Given the description of an element on the screen output the (x, y) to click on. 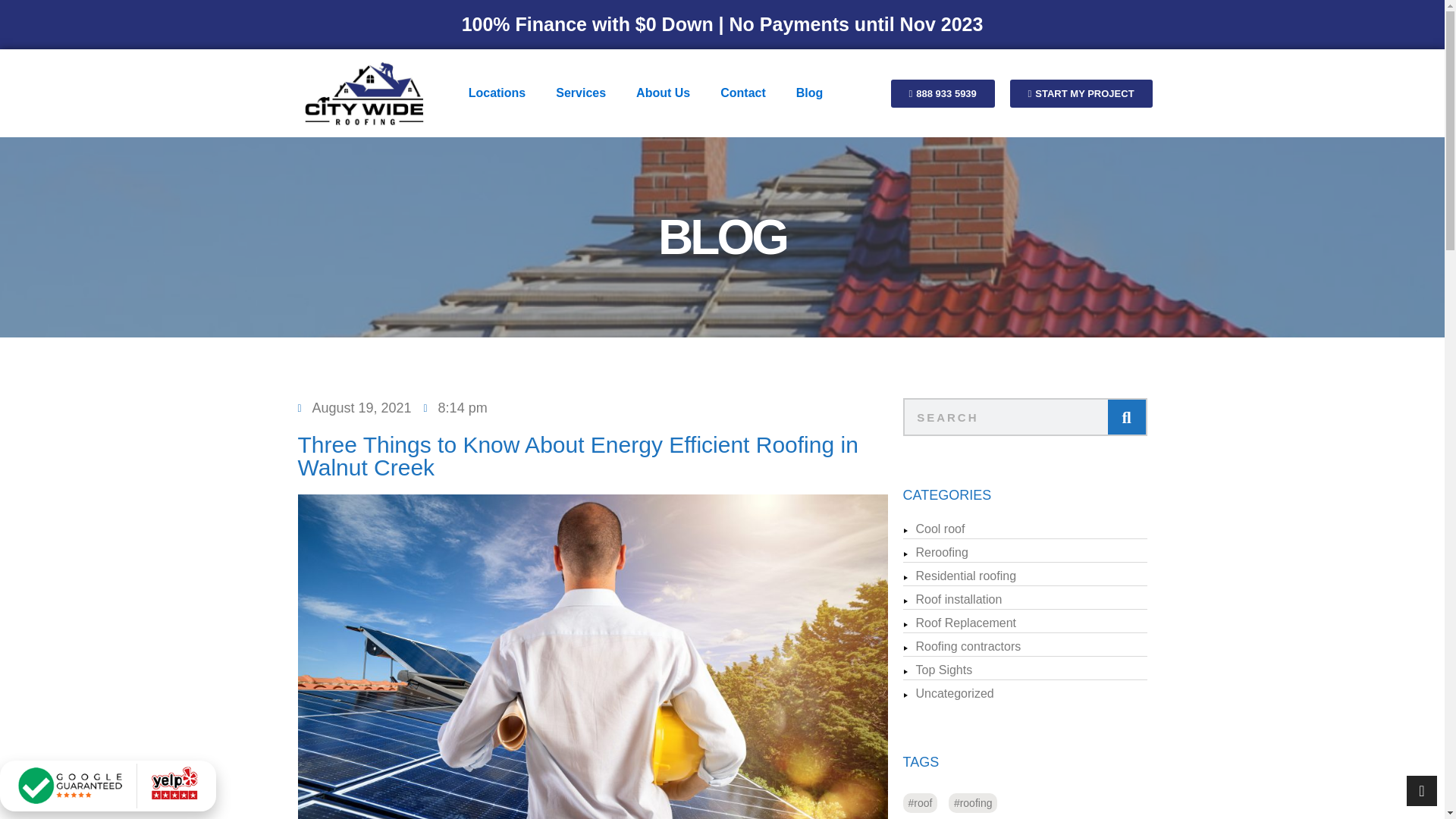
Blog (809, 93)
Services (580, 93)
About Us (662, 93)
Locations (496, 93)
Contact (742, 93)
